Given the description of an element on the screen output the (x, y) to click on. 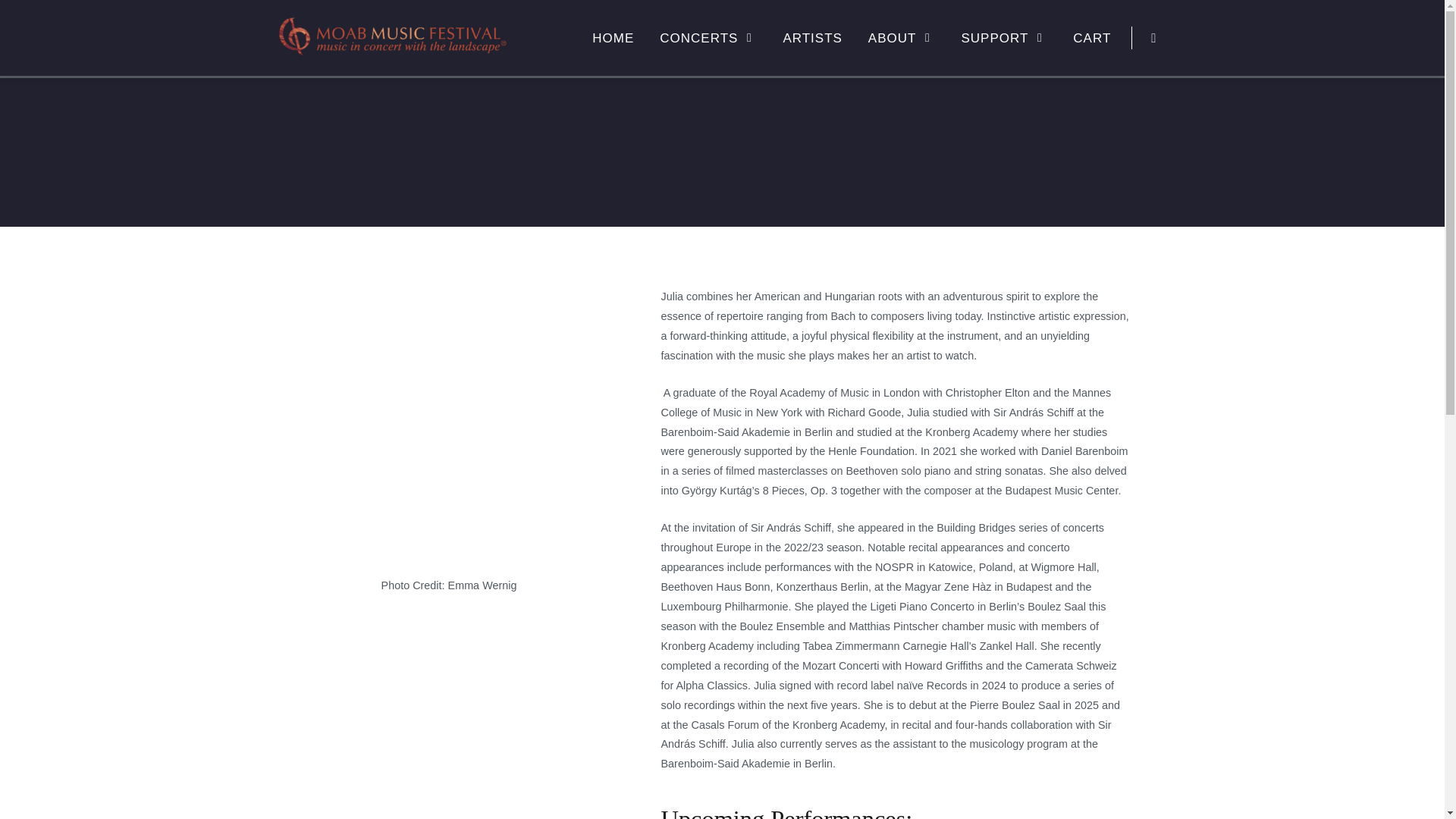
HOME (612, 38)
ABOUT (902, 38)
ARTISTS (812, 38)
CONCERTS (708, 38)
SUPPORT (1003, 38)
